Given the description of an element on the screen output the (x, y) to click on. 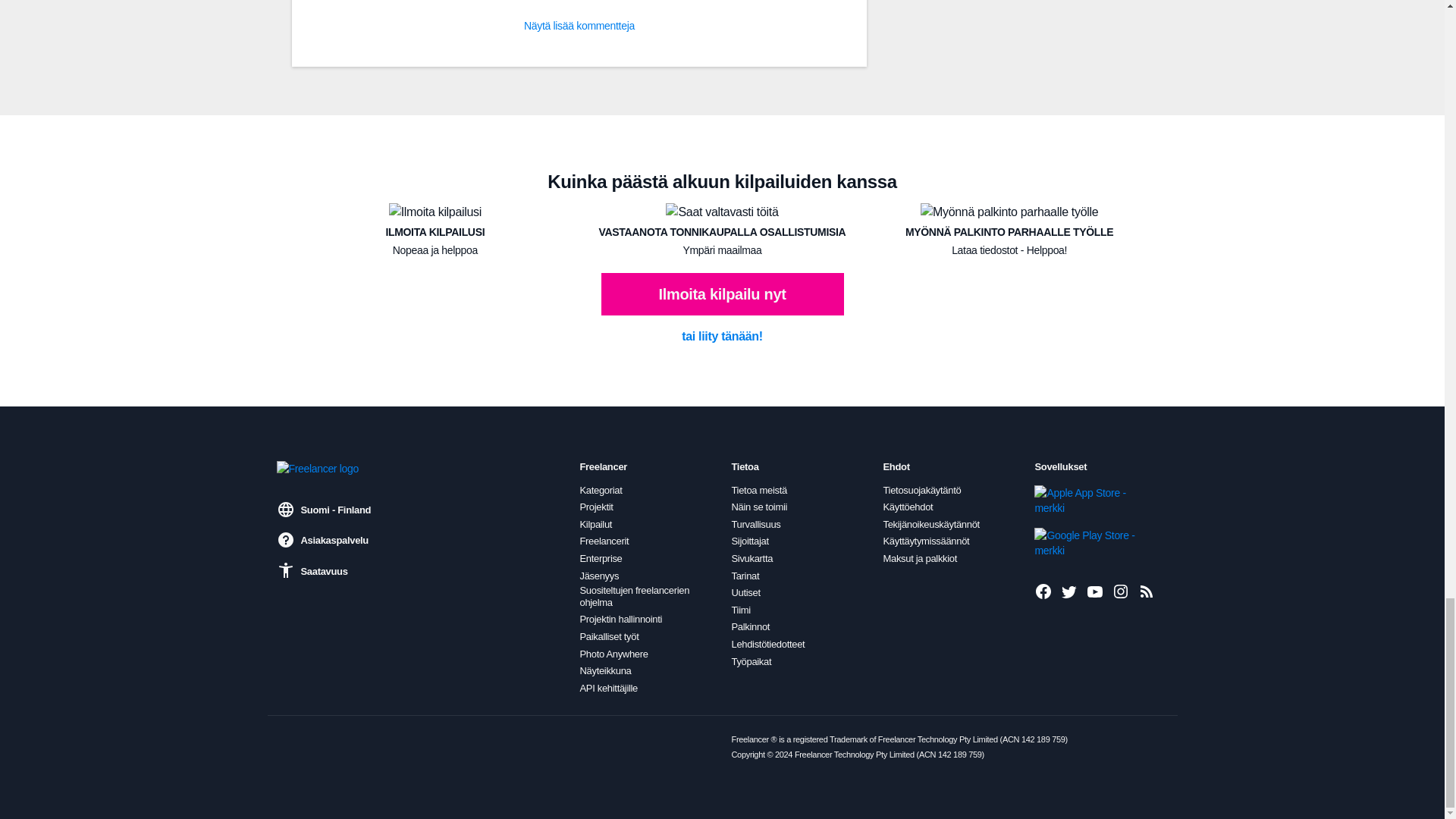
Enterprise (600, 558)
Freelancer Facebookissa (1042, 591)
Ilmoita kilpailu nyt (721, 293)
Kategoriat (600, 490)
Kilpailut (595, 524)
Hanki Google Playsta (1085, 542)
Freelancerit (603, 541)
Freelancer Instagramissa (1120, 591)
Uusimmat projektit (1146, 591)
Asiakaspalvelu (322, 539)
Photo Anywhere (613, 654)
Projektin hallinnointi (620, 619)
Freelancer Youtubessa (1094, 591)
Suositeltujen freelancerien ohjelma (646, 596)
Suomi - Finland (323, 509)
